Given the description of an element on the screen output the (x, y) to click on. 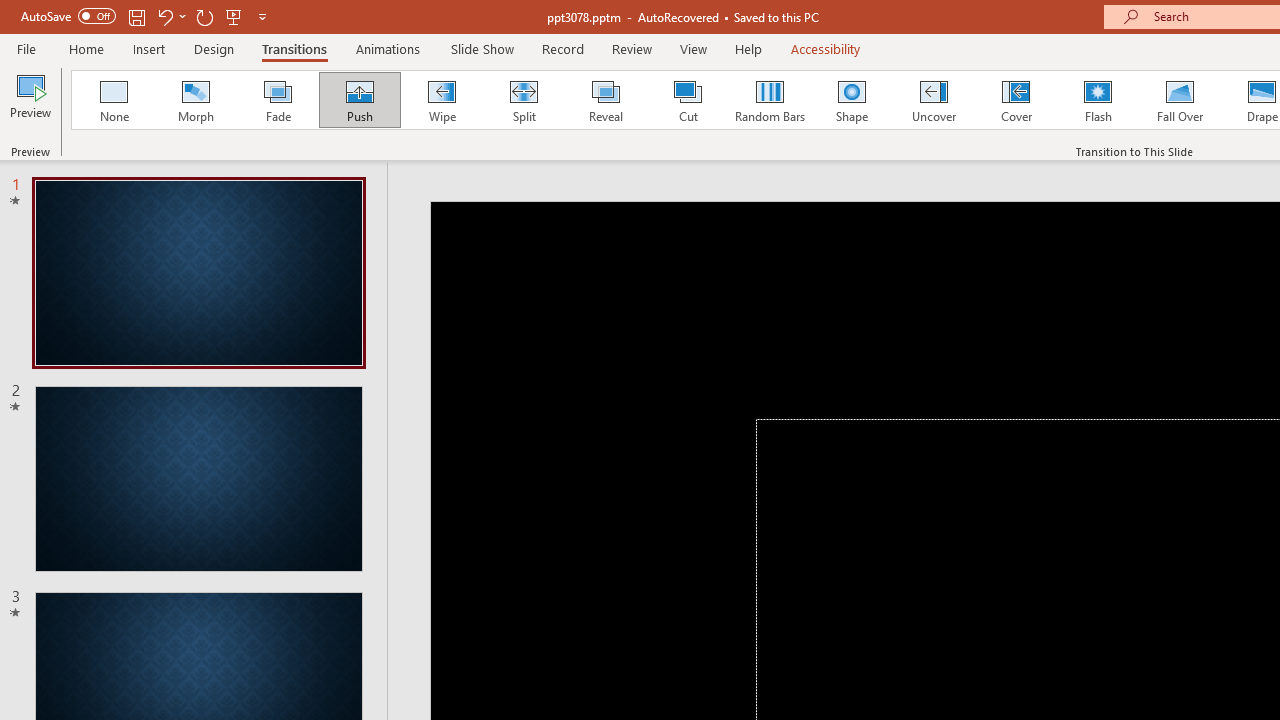
Flash (1098, 100)
Cover (1016, 100)
